Given the description of an element on the screen output the (x, y) to click on. 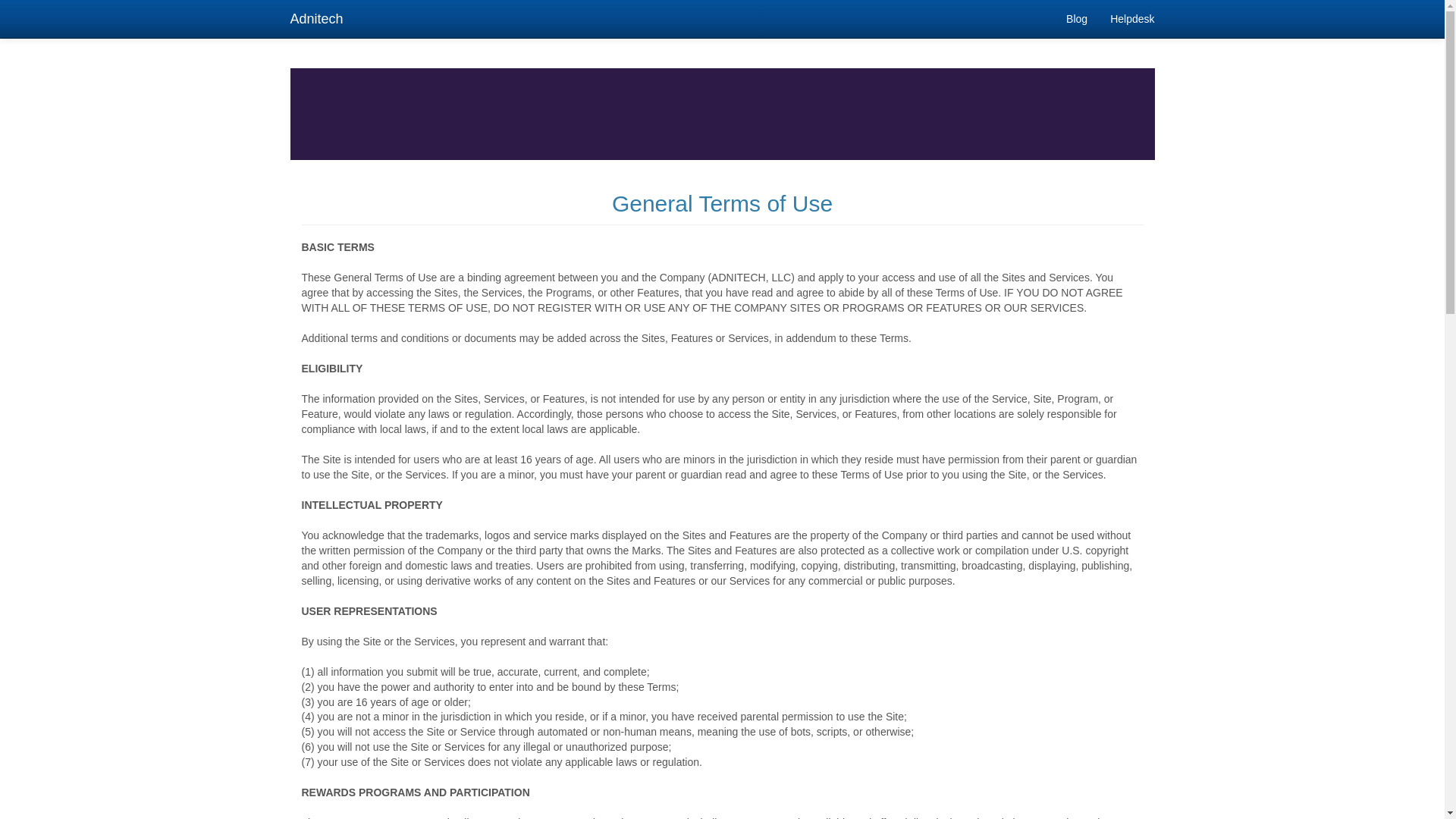
Blog (1076, 18)
Helpdesk (1132, 18)
Adnitech (317, 18)
